Given the description of an element on the screen output the (x, y) to click on. 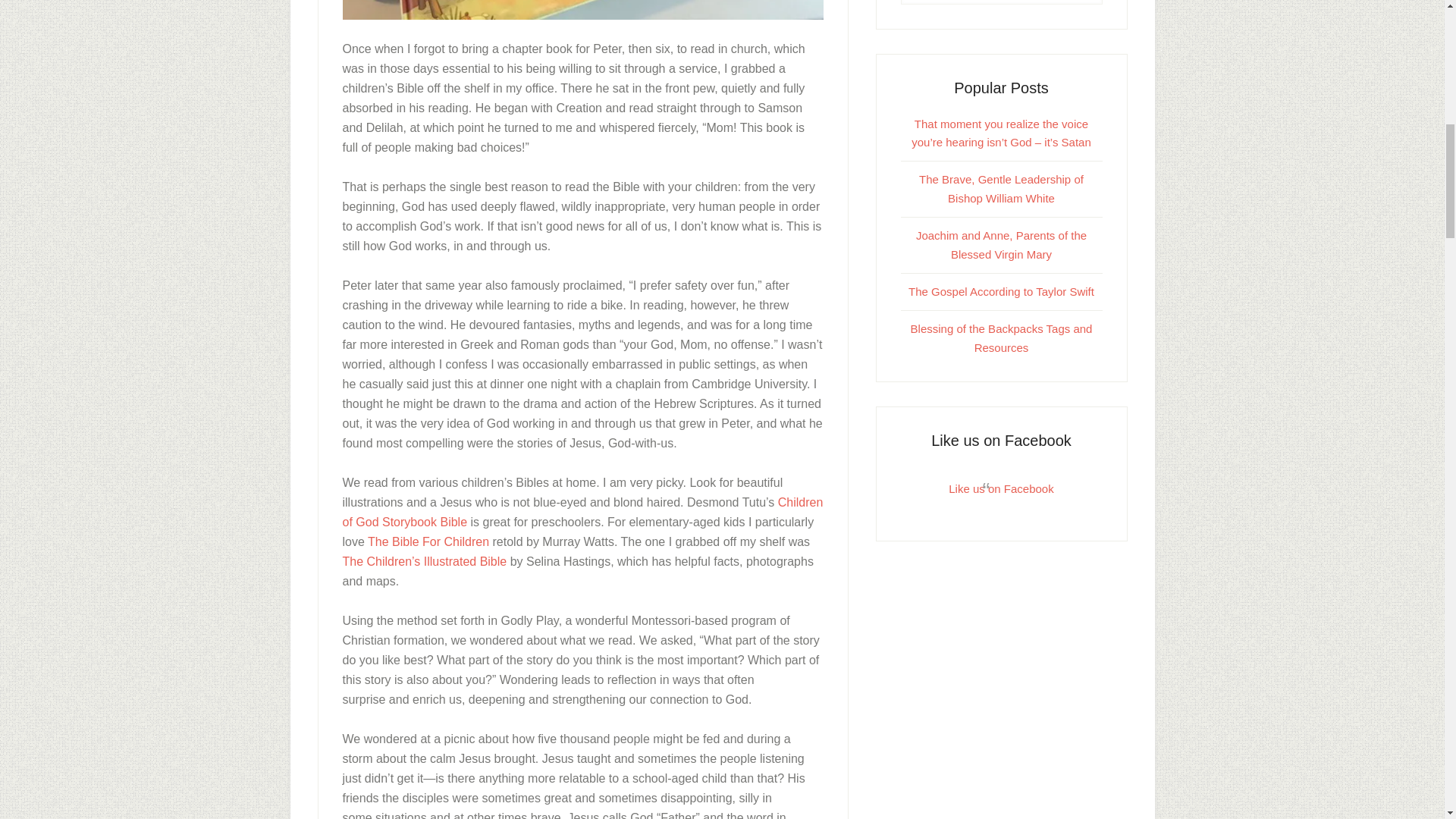
Children of God Storybook Bible (583, 512)
The Bible For Children (428, 541)
